Given the description of an element on the screen output the (x, y) to click on. 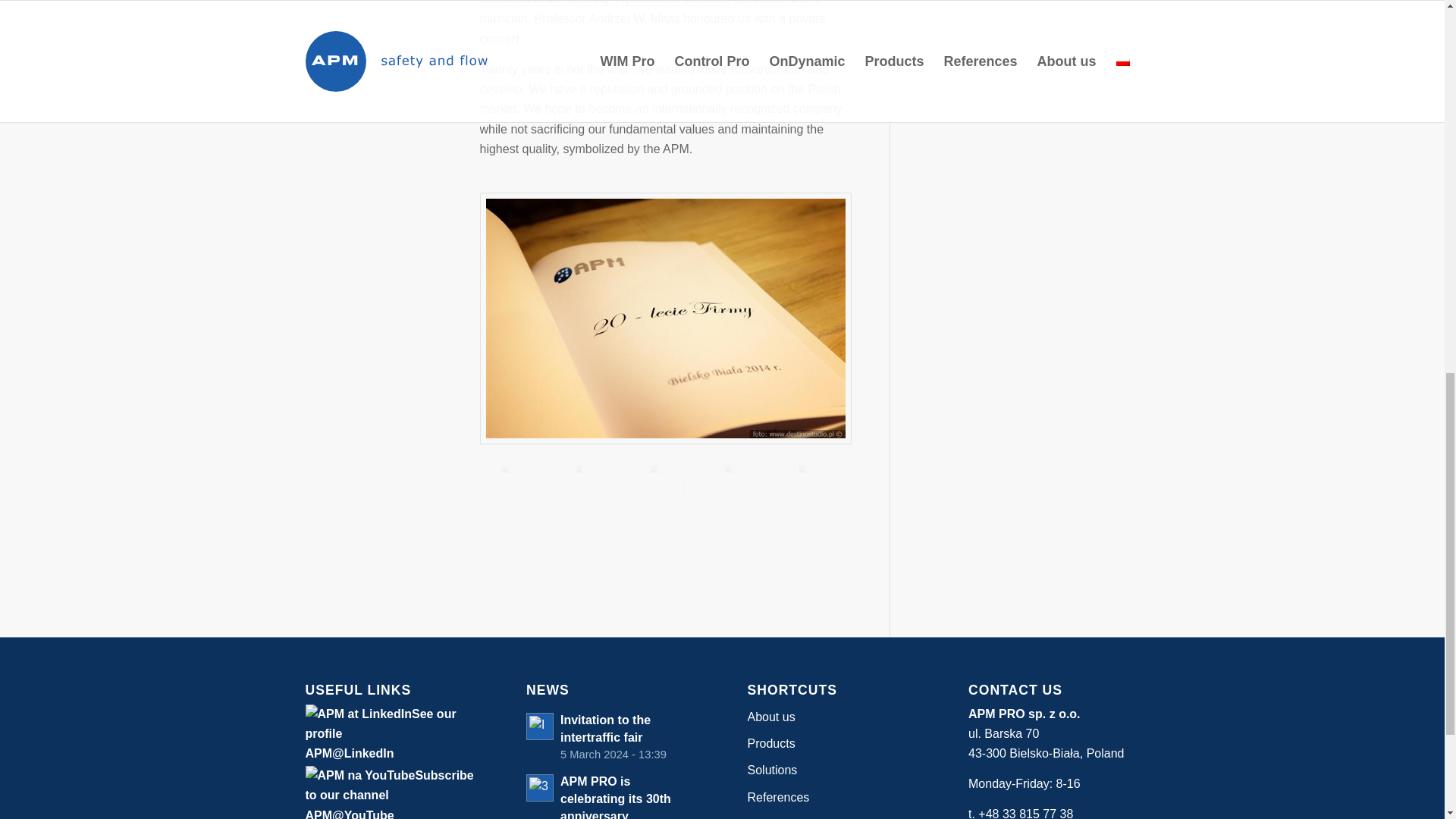
Subscribe to our channel (388, 785)
References (833, 797)
Solutions (833, 770)
See our profile (379, 723)
General Conditions of Sale (611, 736)
About us (833, 815)
Products (833, 717)
